Given the description of an element on the screen output the (x, y) to click on. 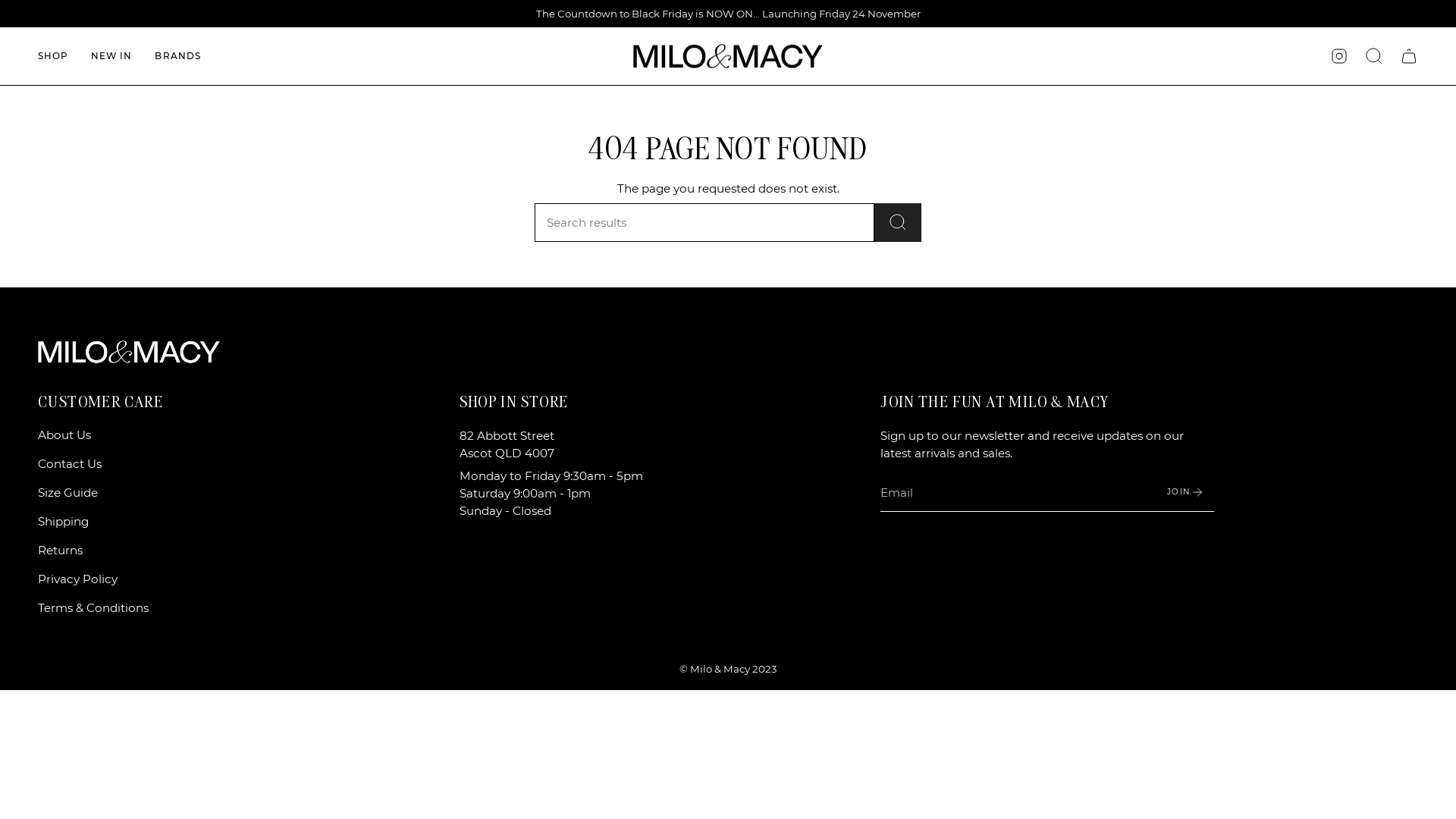
Size Guide Element type: text (67, 492)
Shipping Element type: text (62, 521)
About Us Element type: text (64, 434)
BRANDS Element type: text (177, 55)
Terms & Conditions Element type: text (92, 607)
JOIN Element type: text (1185, 491)
Returns Element type: text (59, 549)
NEW IN Element type: text (111, 55)
Contact Us Element type: text (69, 463)
INSTAGRAM Element type: text (1339, 54)
Privacy Policy Element type: text (77, 578)
SHOP Element type: text (52, 55)
CART Element type: text (1408, 56)
